Given the description of an element on the screen output the (x, y) to click on. 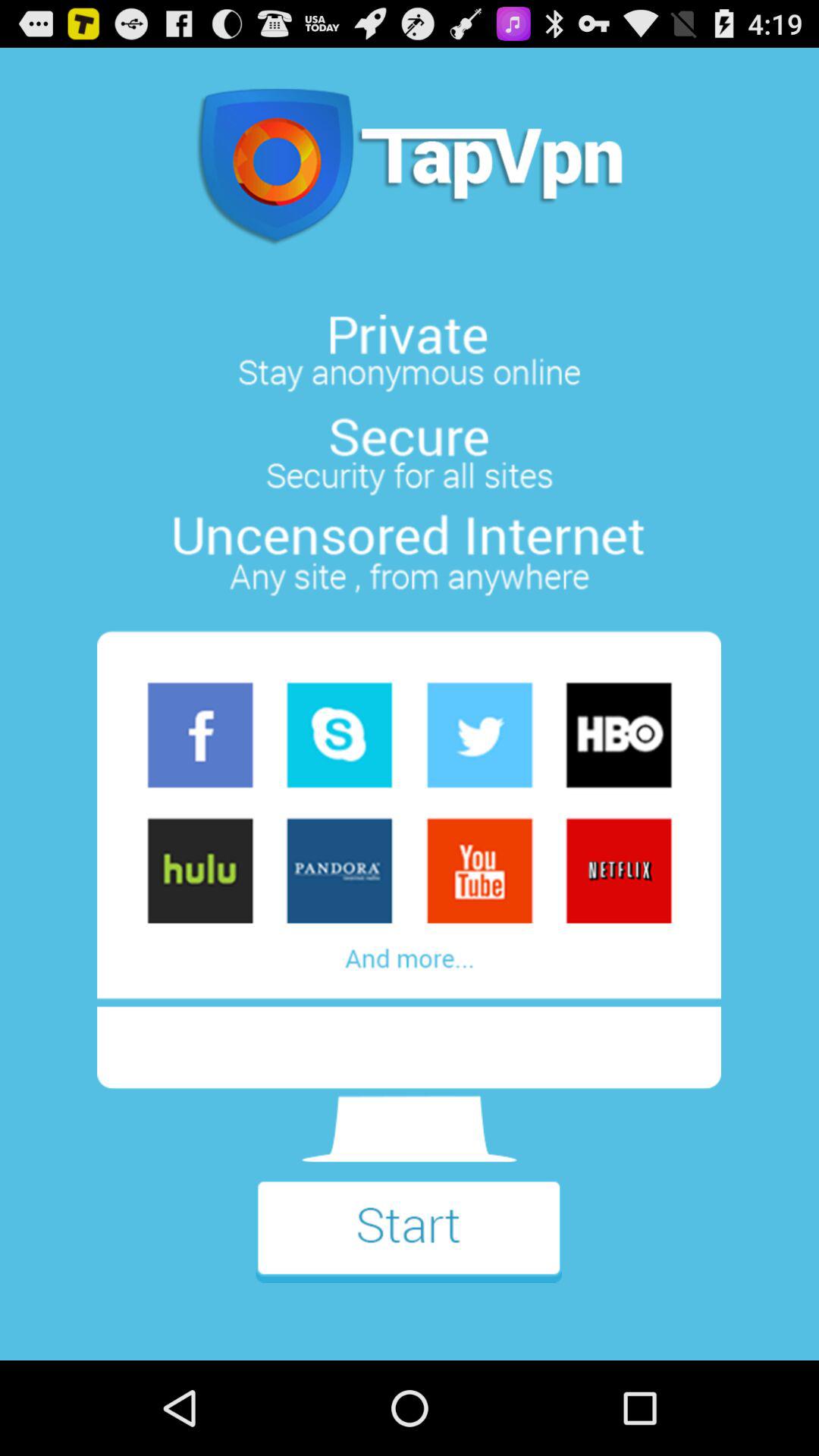
for start vpn (408, 1241)
